Given the description of an element on the screen output the (x, y) to click on. 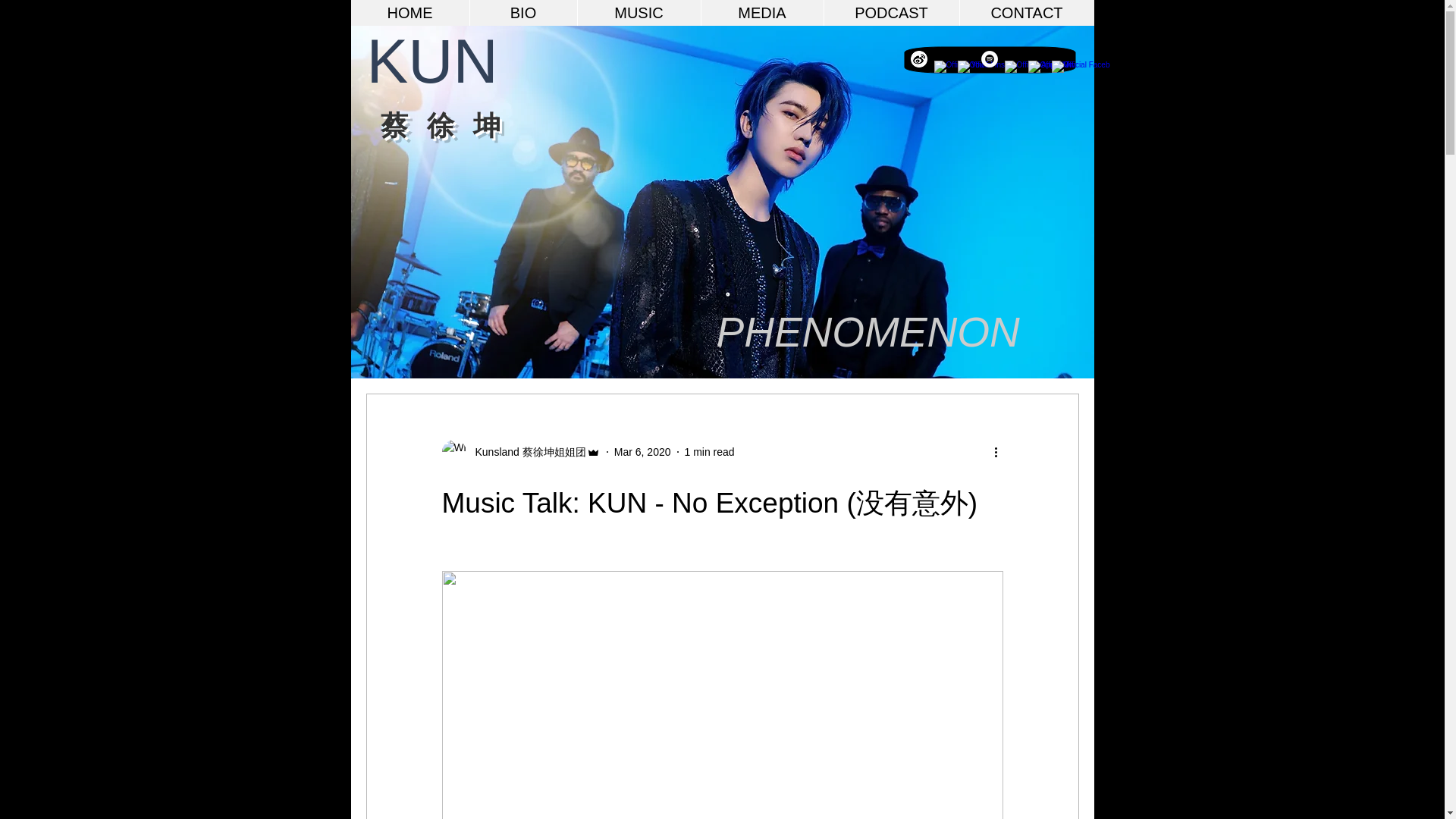
MUSIC (638, 12)
HOME (409, 12)
CONTACT (1025, 12)
BIO (522, 12)
PODCAST (891, 12)
Mar 6, 2020 (642, 451)
1 min read (708, 451)
MEDIA (762, 12)
